Given the description of an element on the screen output the (x, y) to click on. 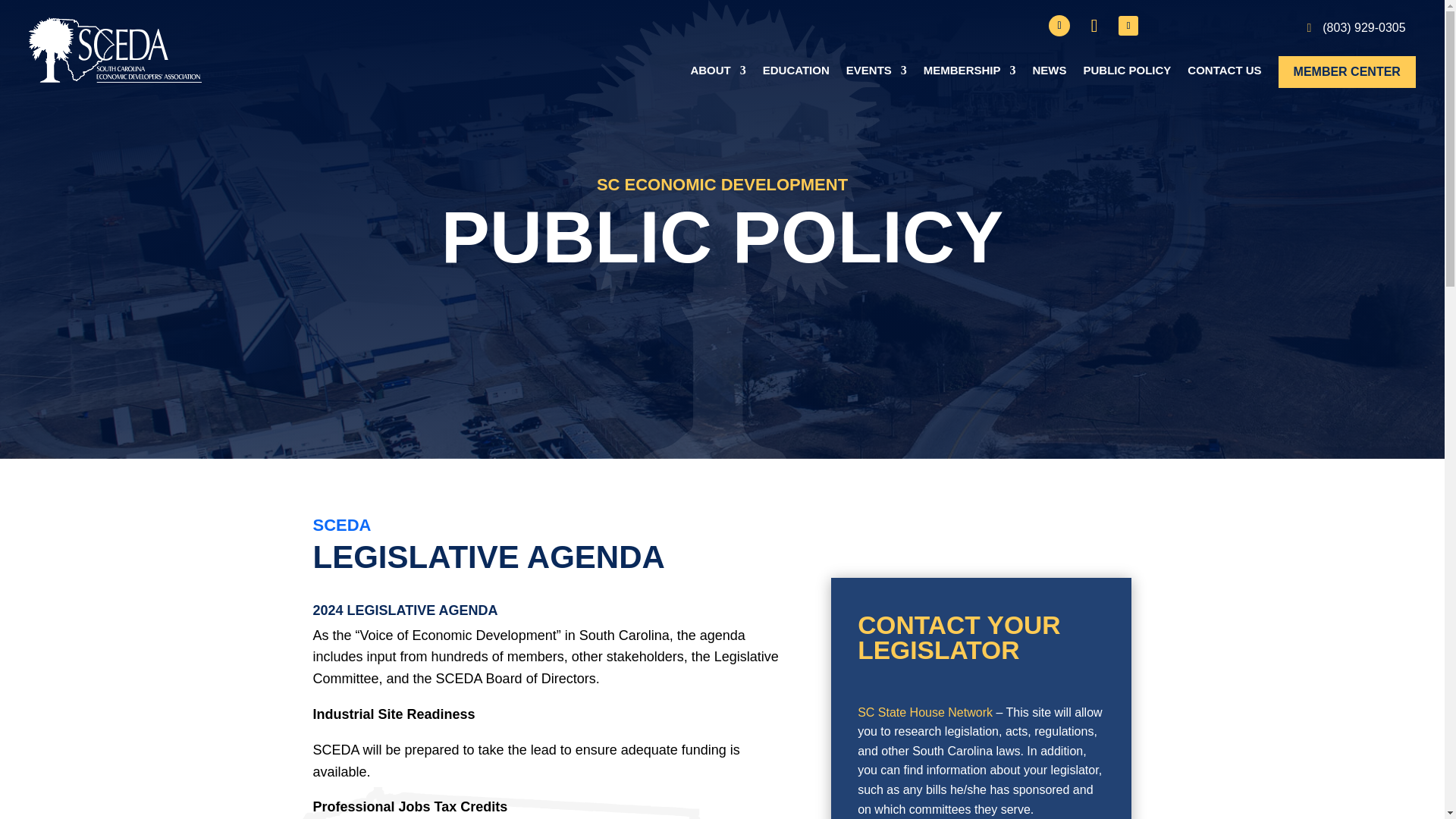
ABOUT (717, 75)
Follow on LinkedIn (1128, 25)
Follow on Twitter (1093, 25)
MEMBER CENTER (1347, 75)
CONTACT US (1224, 75)
Follow on Facebook (1059, 25)
EDUCATION (795, 75)
EVENTS (876, 75)
SCEDA-horizontal-logo-w (115, 49)
NEWS (1048, 75)
PUBLIC POLICY (1126, 75)
MEMBERSHIP (969, 75)
